Given the description of an element on the screen output the (x, y) to click on. 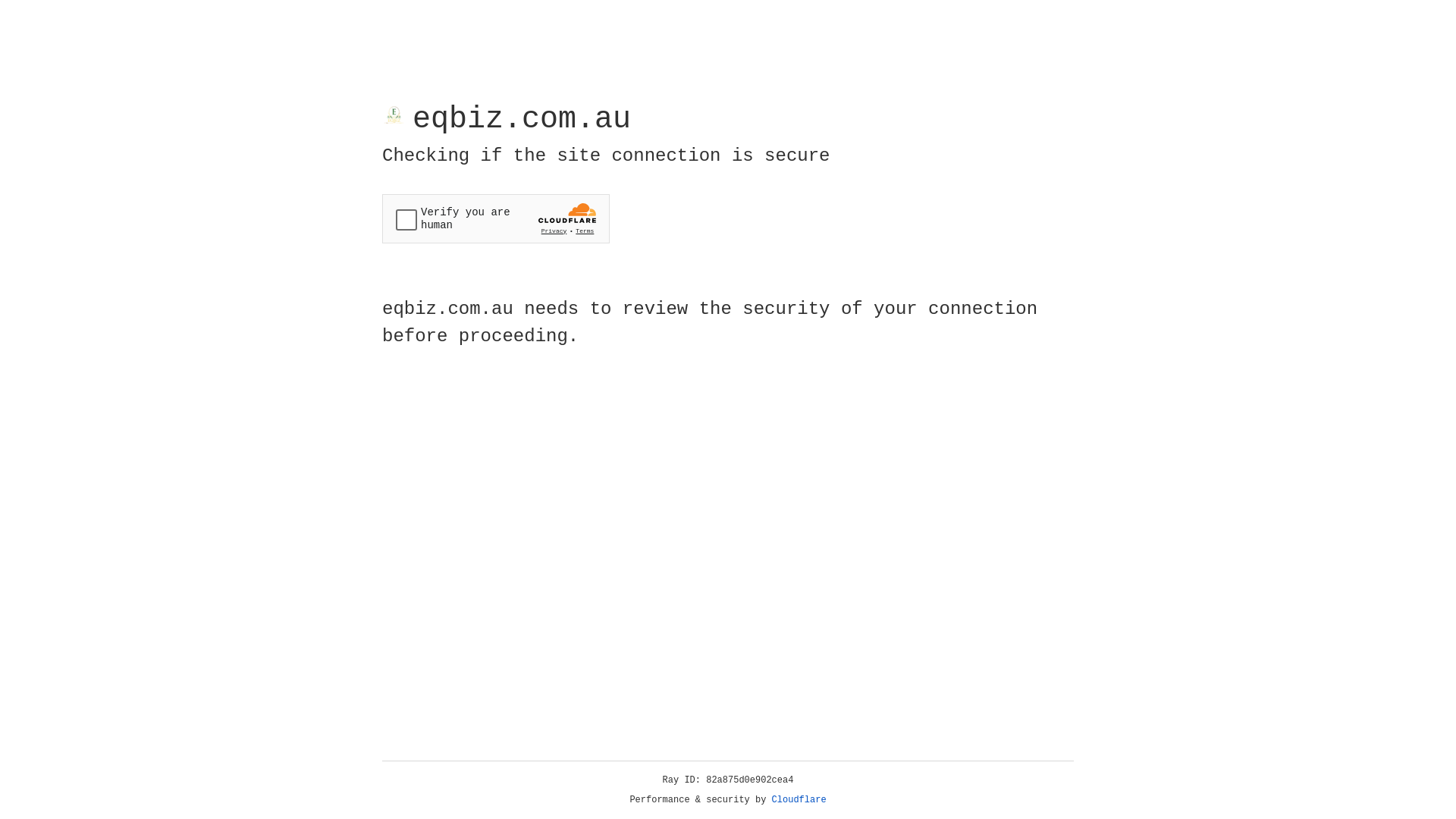
Widget containing a Cloudflare security challenge Element type: hover (495, 218)
Cloudflare Element type: text (798, 799)
